Given the description of an element on the screen output the (x, y) to click on. 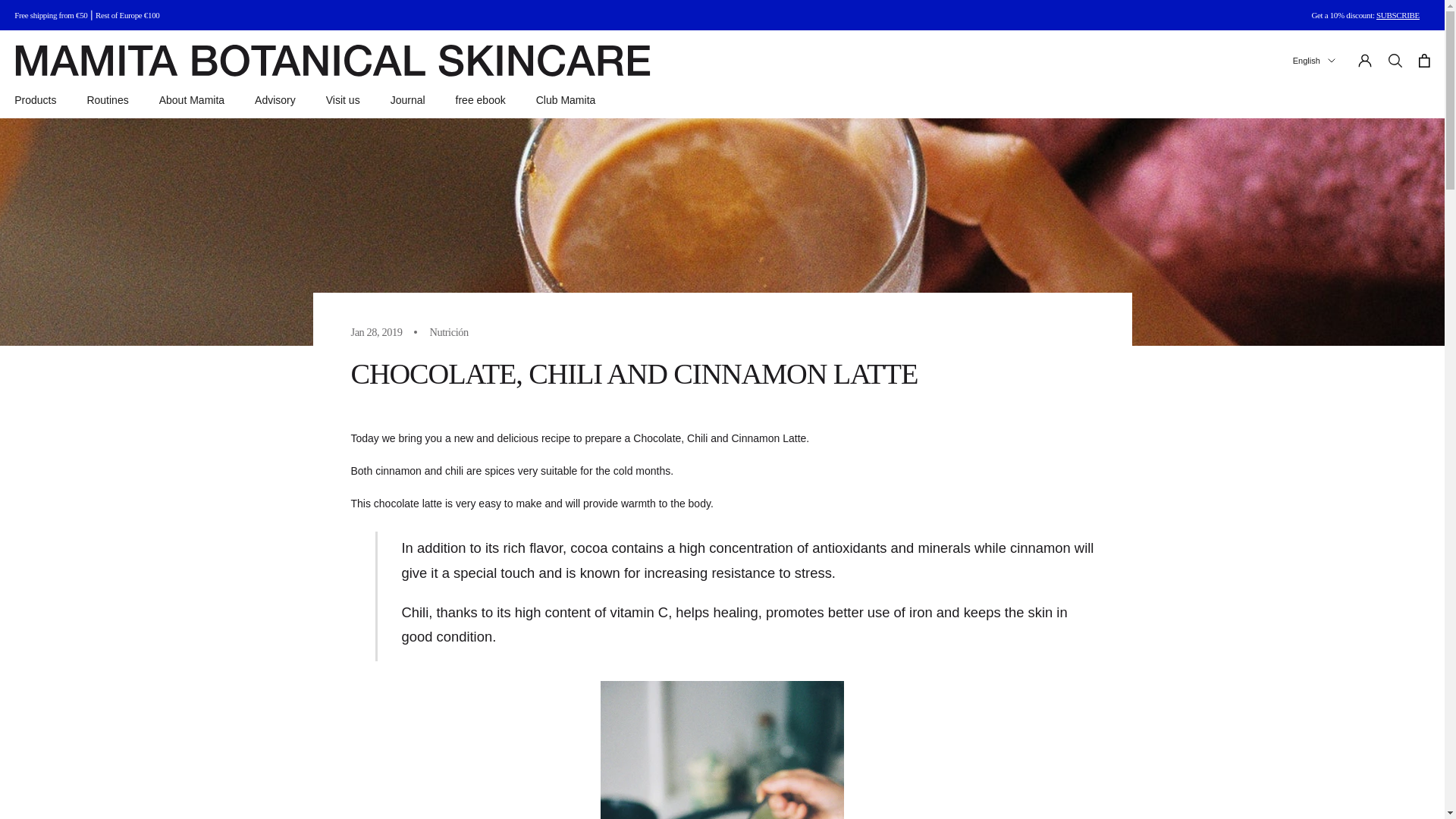
SUBSCRIBE (1397, 14)
Visit us (342, 99)
Routines (106, 99)
free ebook (480, 99)
MAMITA BOTANICAL SKINCARE (332, 60)
Club Mamita (565, 99)
English (1313, 60)
Journal (407, 99)
About Mamita (191, 99)
to subscribe (1397, 14)
